Given the description of an element on the screen output the (x, y) to click on. 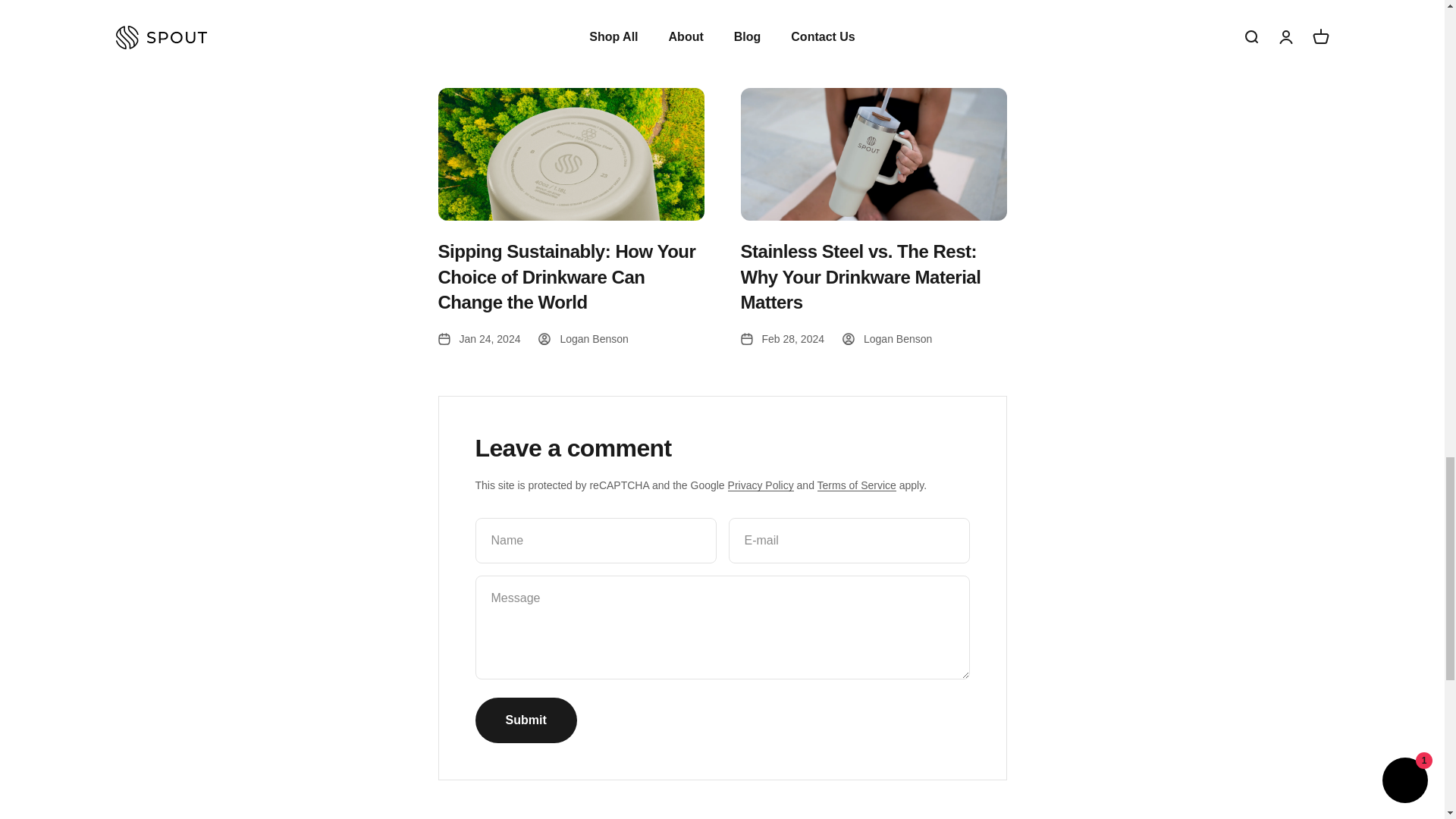
Submit (525, 719)
Privacy Policy (760, 485)
Terms of Service (856, 485)
